Given the description of an element on the screen output the (x, y) to click on. 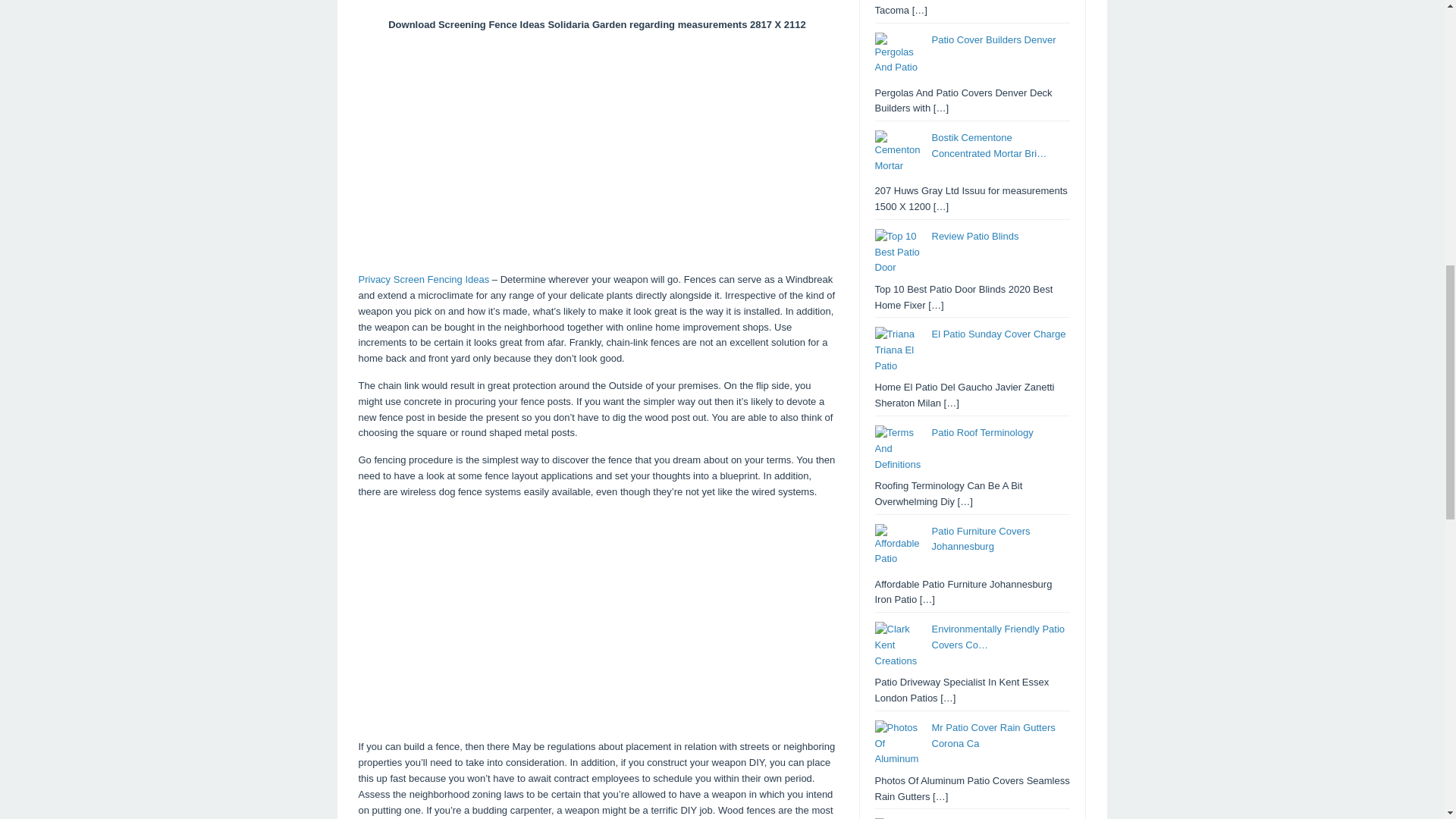
Patio Cover Builders Denver (993, 39)
Privacy Screen Fencing Ideas (423, 279)
